Given the description of an element on the screen output the (x, y) to click on. 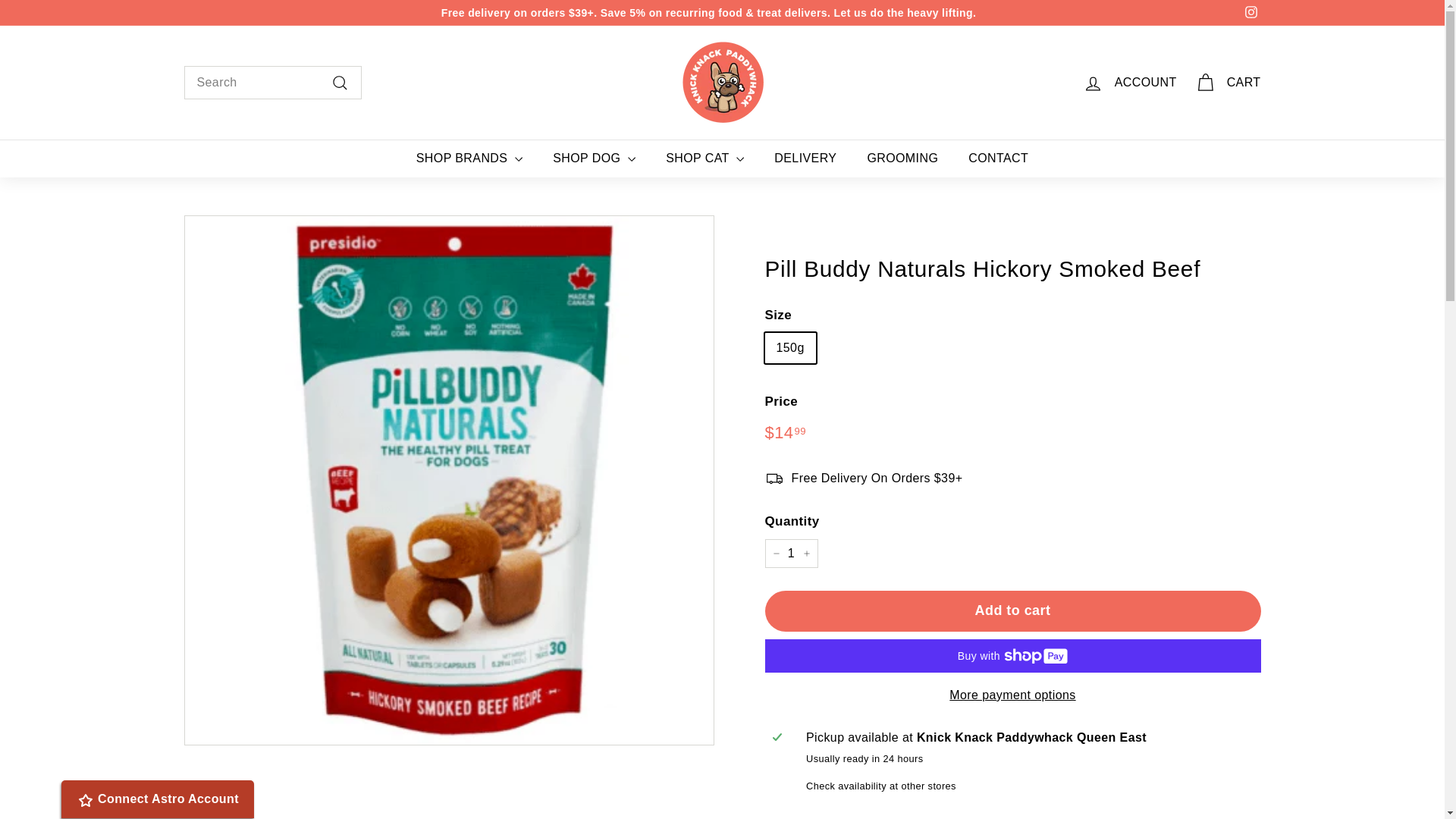
1 (790, 553)
ACCOUNT (1130, 82)
CART (1227, 82)
instagram (1250, 11)
